Given the description of an element on the screen output the (x, y) to click on. 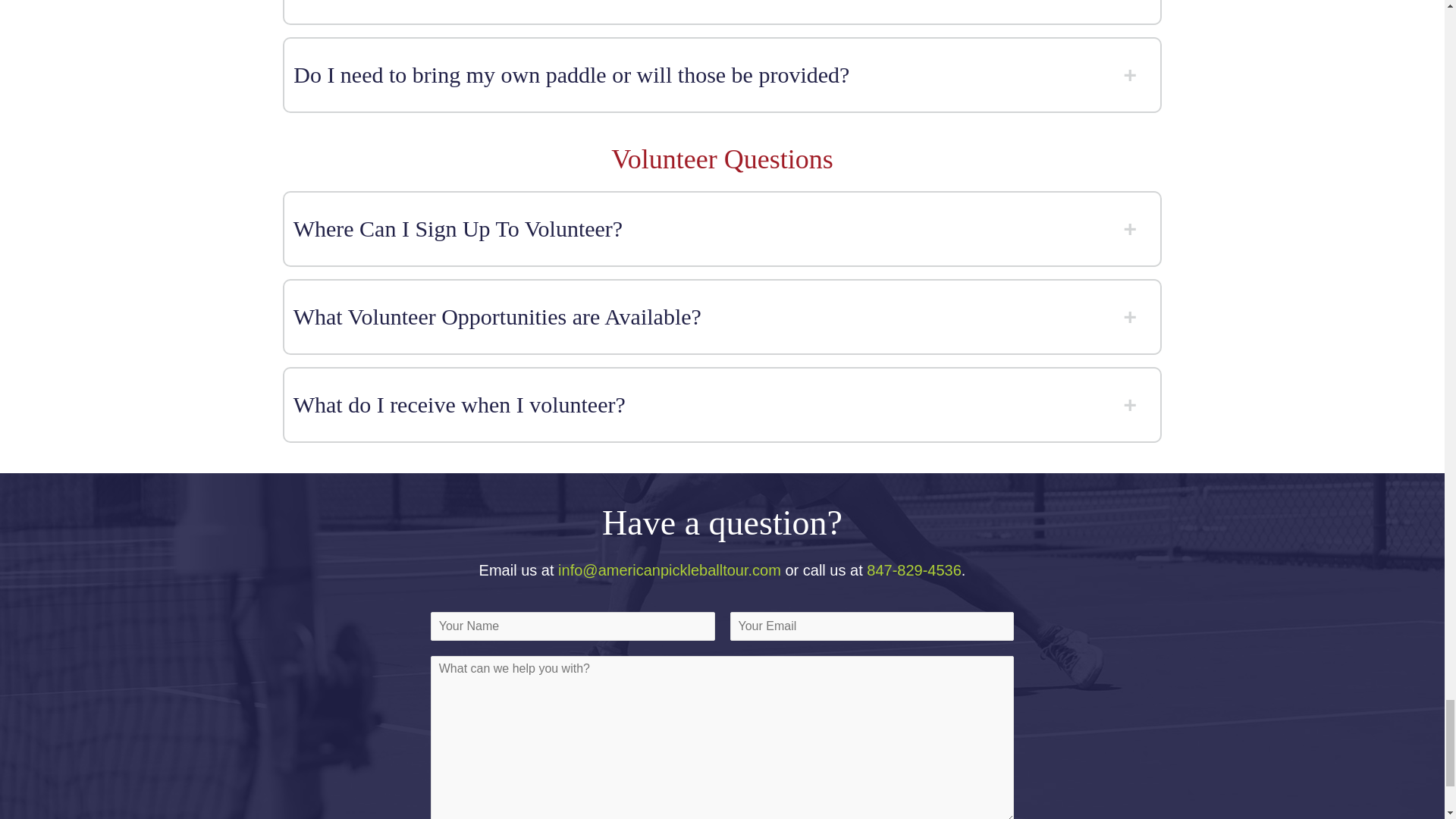
847-829-4536 (913, 569)
